Given the description of an element on the screen output the (x, y) to click on. 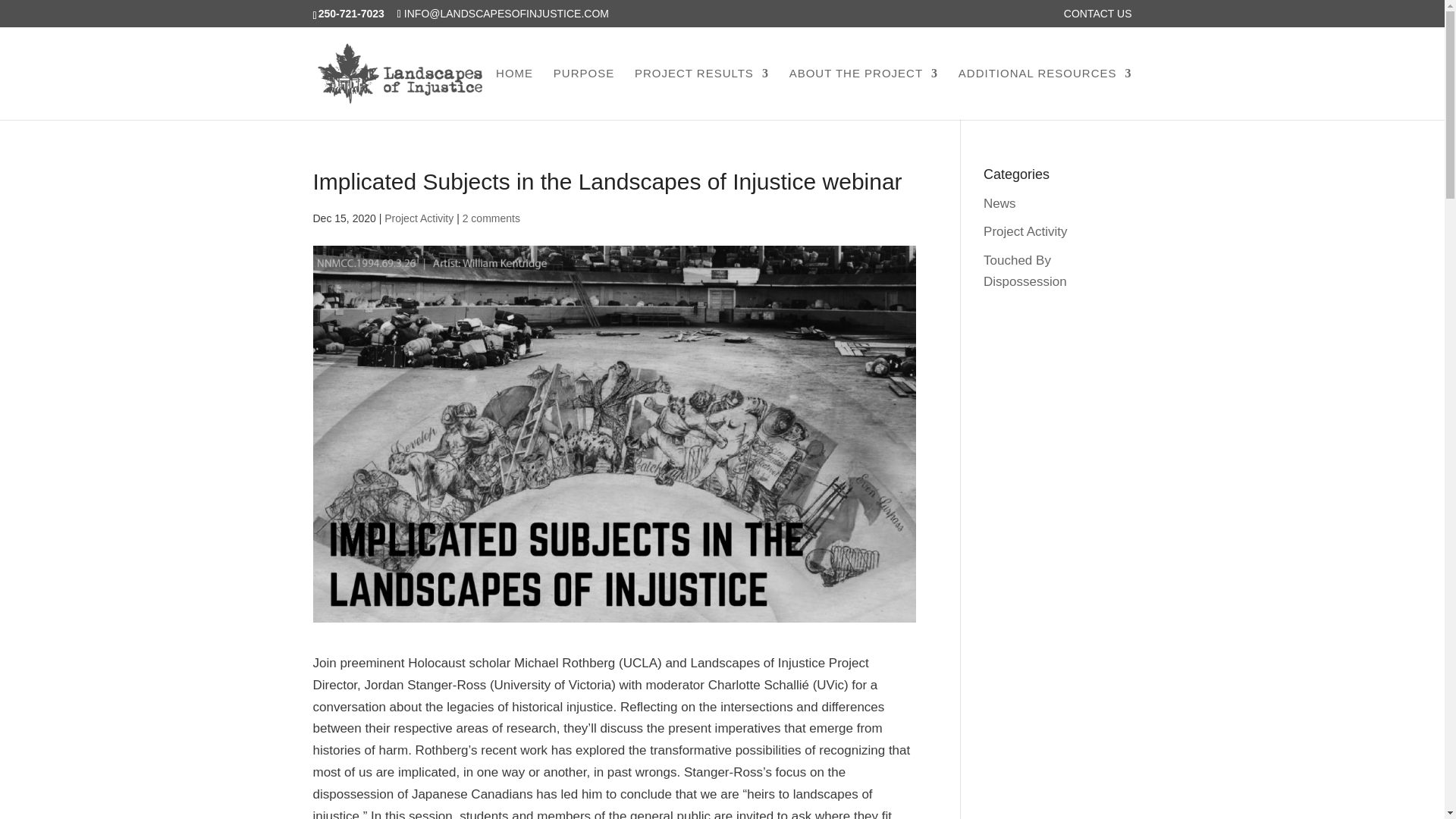
Touched By Dispossession (1025, 271)
Project Activity (1025, 231)
ABOUT THE PROJECT (863, 93)
News (1000, 203)
2 comments (491, 218)
PROJECT RESULTS (701, 93)
CONTACT US (1098, 16)
Project Activity (418, 218)
PURPOSE (583, 93)
ADDITIONAL RESOURCES (1045, 93)
